Given the description of an element on the screen output the (x, y) to click on. 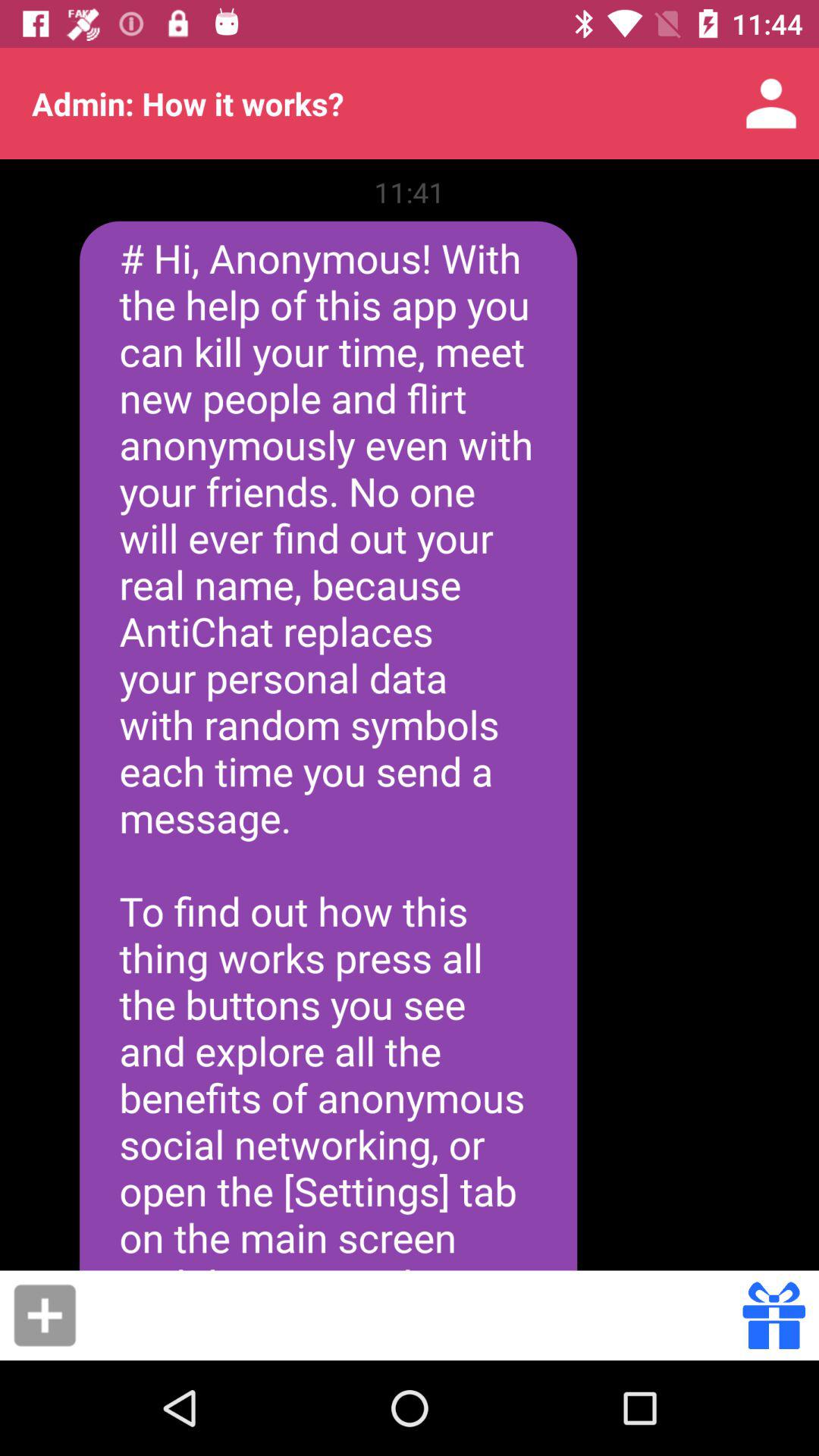
select the item at the bottom left corner (44, 1315)
